Given the description of an element on the screen output the (x, y) to click on. 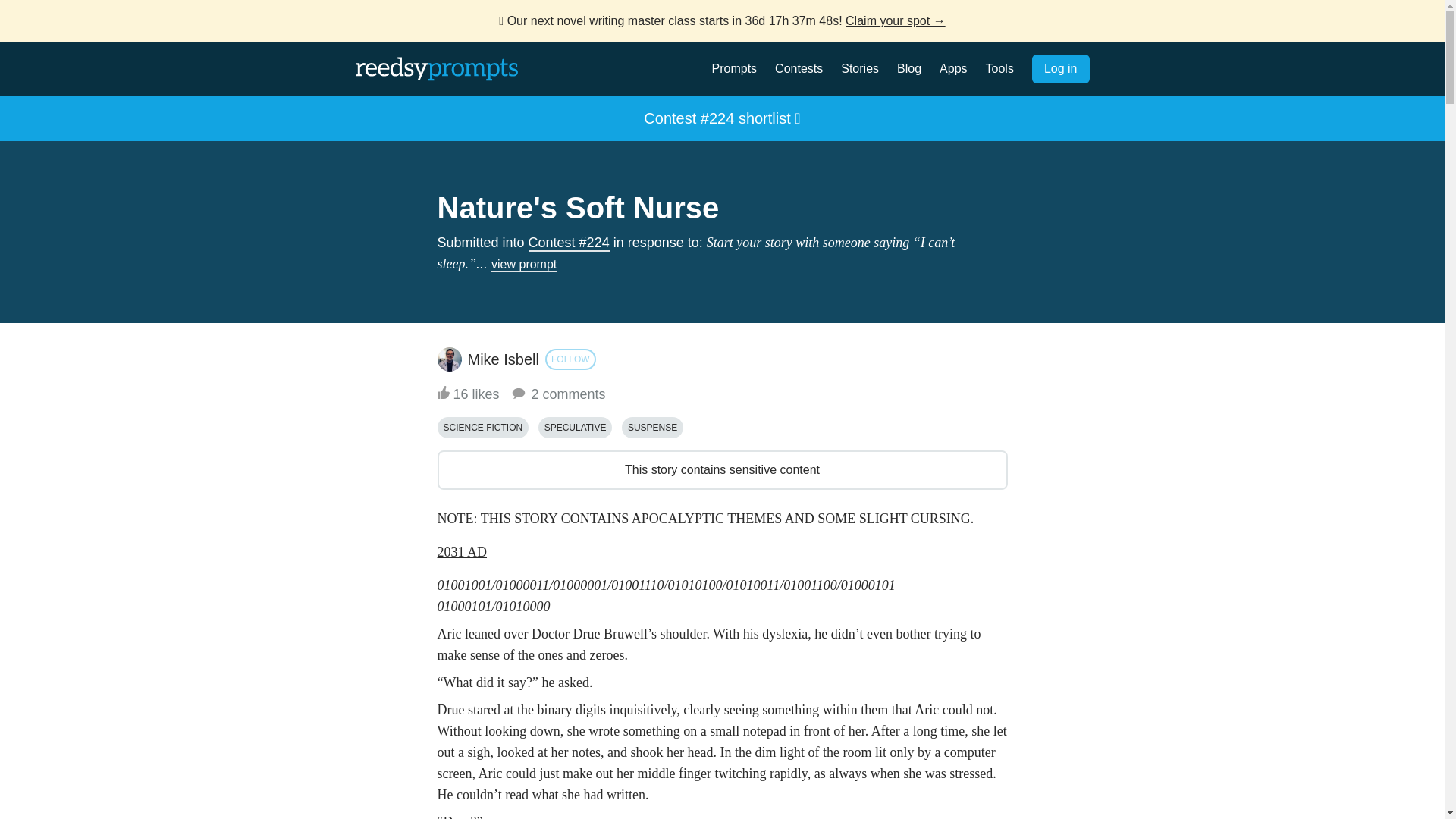
Stories (860, 68)
Log in (1060, 68)
Contests (798, 68)
2 comments (557, 394)
Tools (999, 68)
Prompts (734, 68)
Apps (952, 68)
Blog (908, 68)
